Given the description of an element on the screen output the (x, y) to click on. 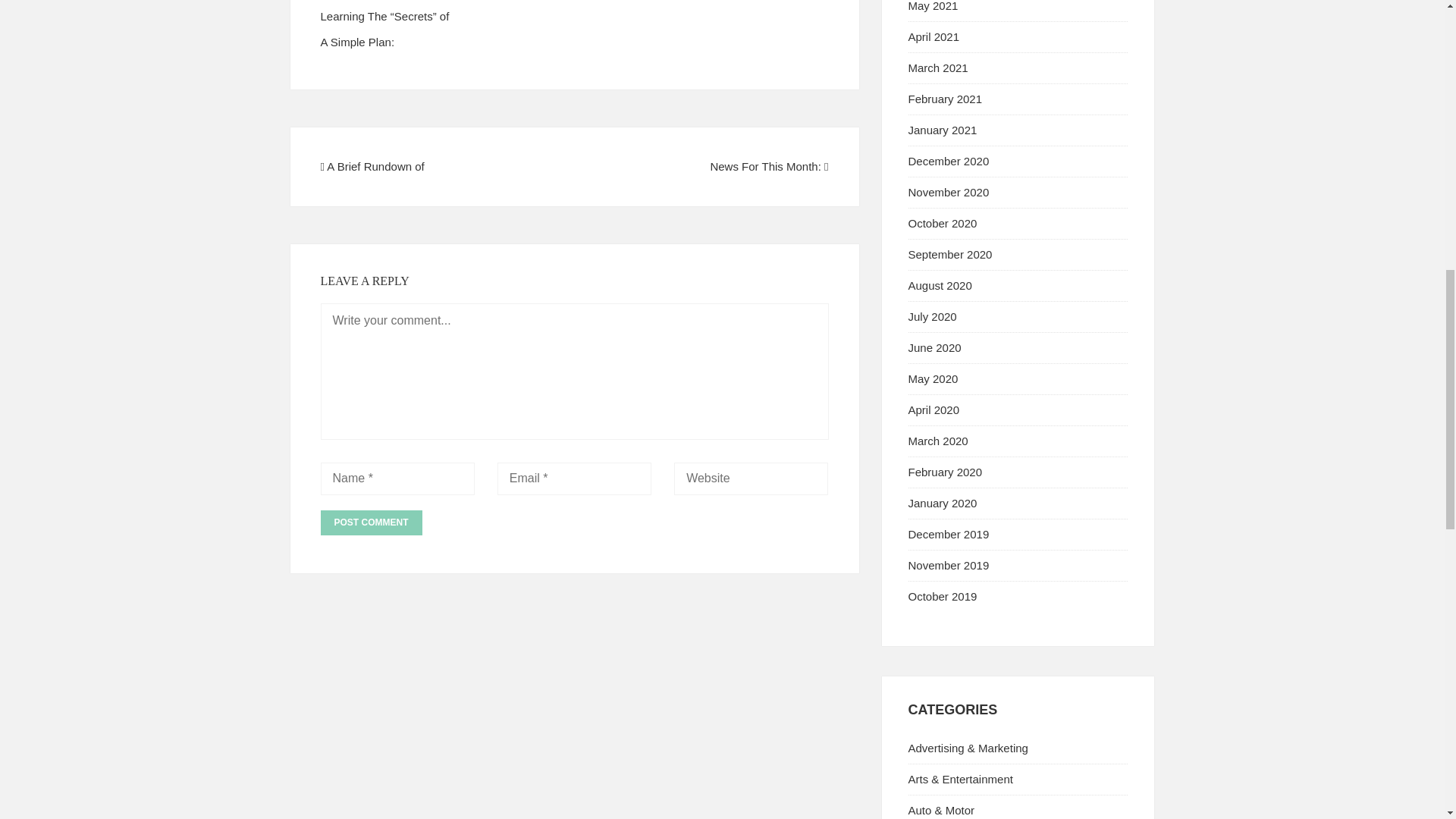
August 2020 (940, 285)
October 2019 (942, 595)
January 2020 (942, 502)
Post Comment (371, 522)
April 2020 (933, 409)
November 2020 (949, 192)
February 2021 (945, 98)
November 2019 (949, 564)
March 2021 (938, 67)
May 2021 (933, 6)
